Given the description of an element on the screen output the (x, y) to click on. 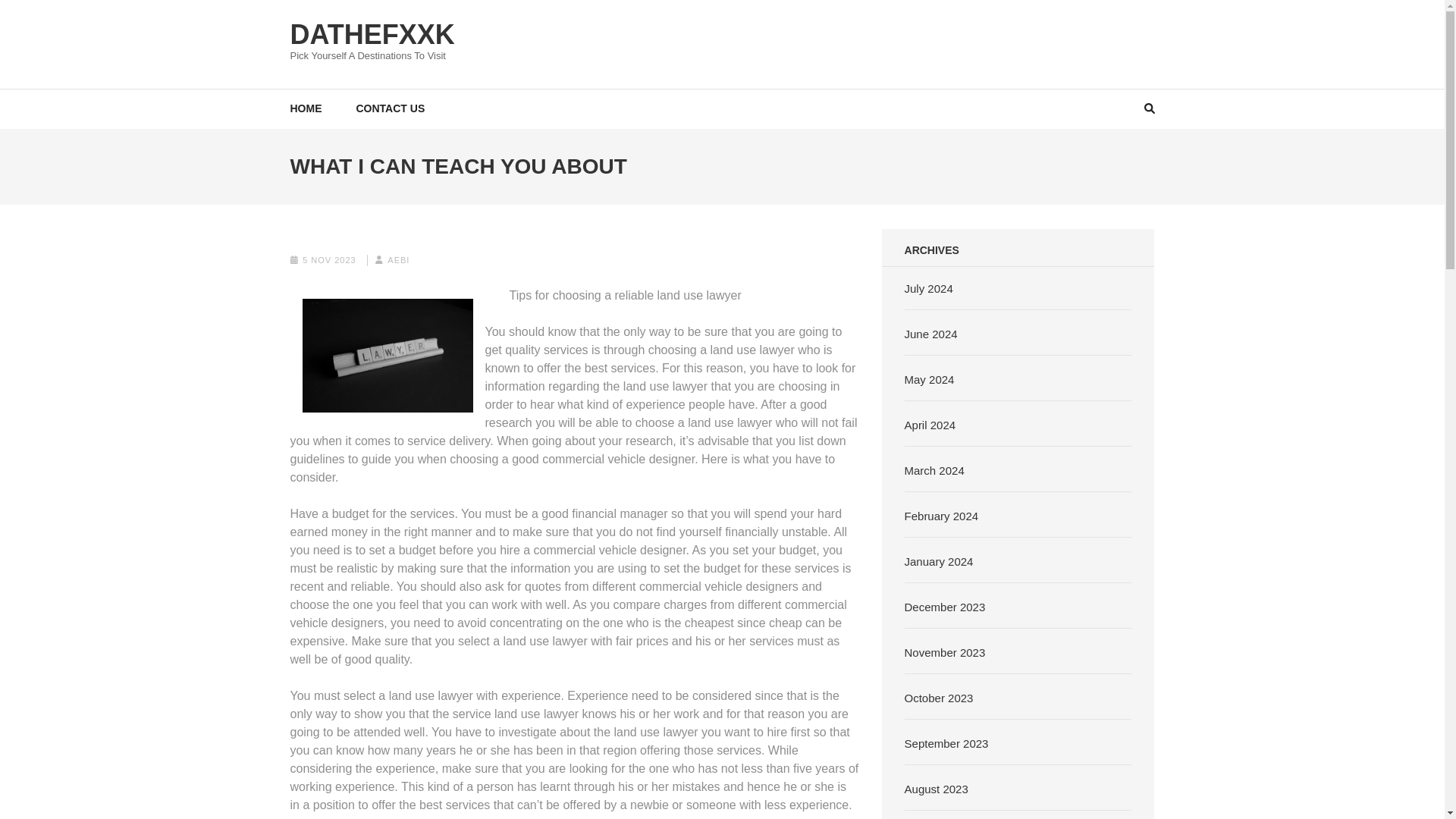
February 2024 (941, 515)
CONTACT US (390, 108)
HOME (305, 108)
May 2024 (929, 379)
AEBI (398, 258)
July 2024 (928, 287)
January 2024 (939, 561)
March 2024 (933, 470)
April 2024 (930, 424)
DATHEFXXK (371, 33)
October 2023 (939, 697)
November 2023 (944, 652)
December 2023 (944, 606)
June 2024 (931, 333)
5 NOV 2023 (329, 258)
